Given the description of an element on the screen output the (x, y) to click on. 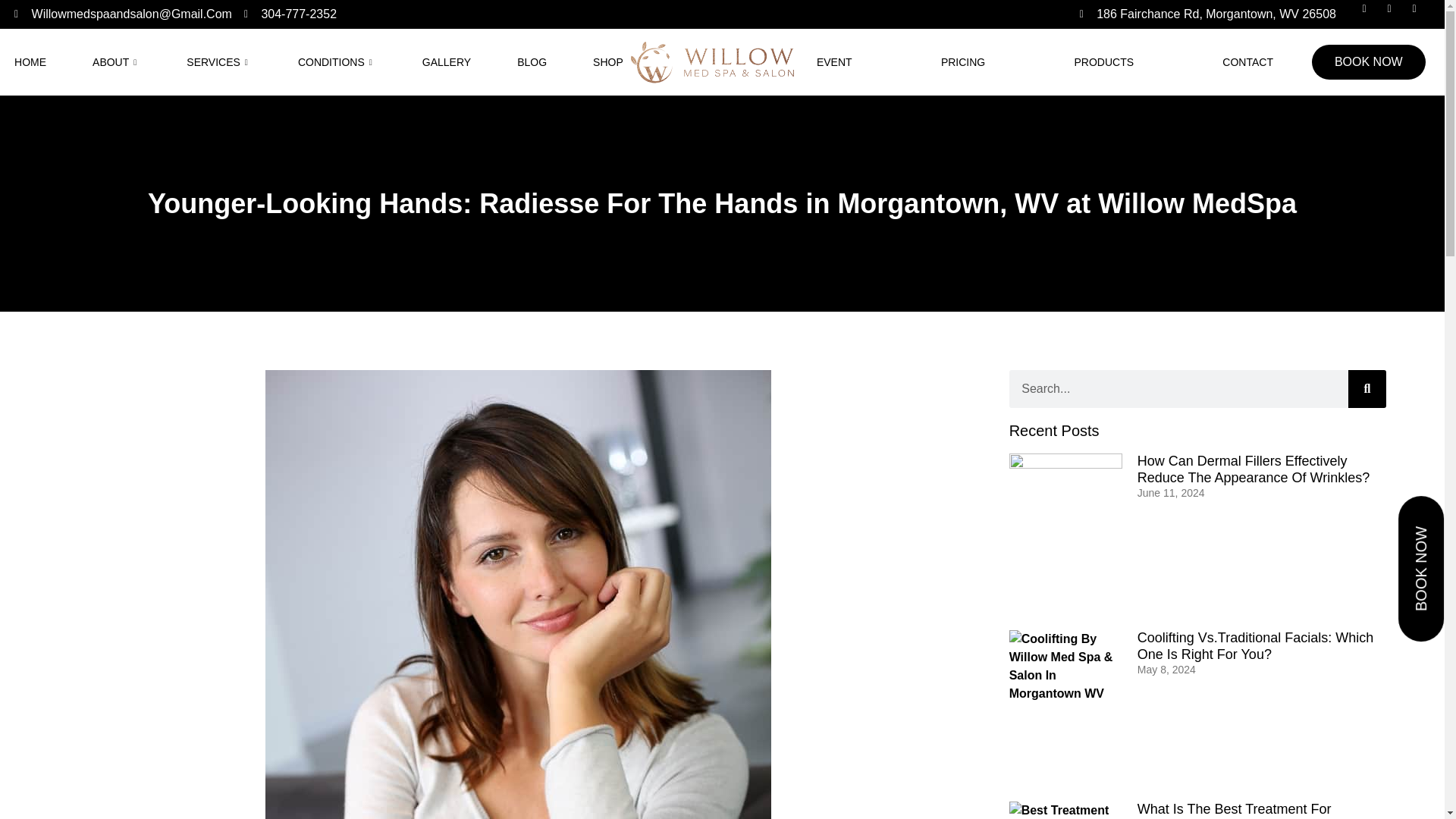
304-777-2352 (290, 13)
186 Fairchance Rd, Morgantown, WV 26508 (1208, 13)
SERVICES (218, 62)
ABOUT (116, 62)
